Given the description of an element on the screen output the (x, y) to click on. 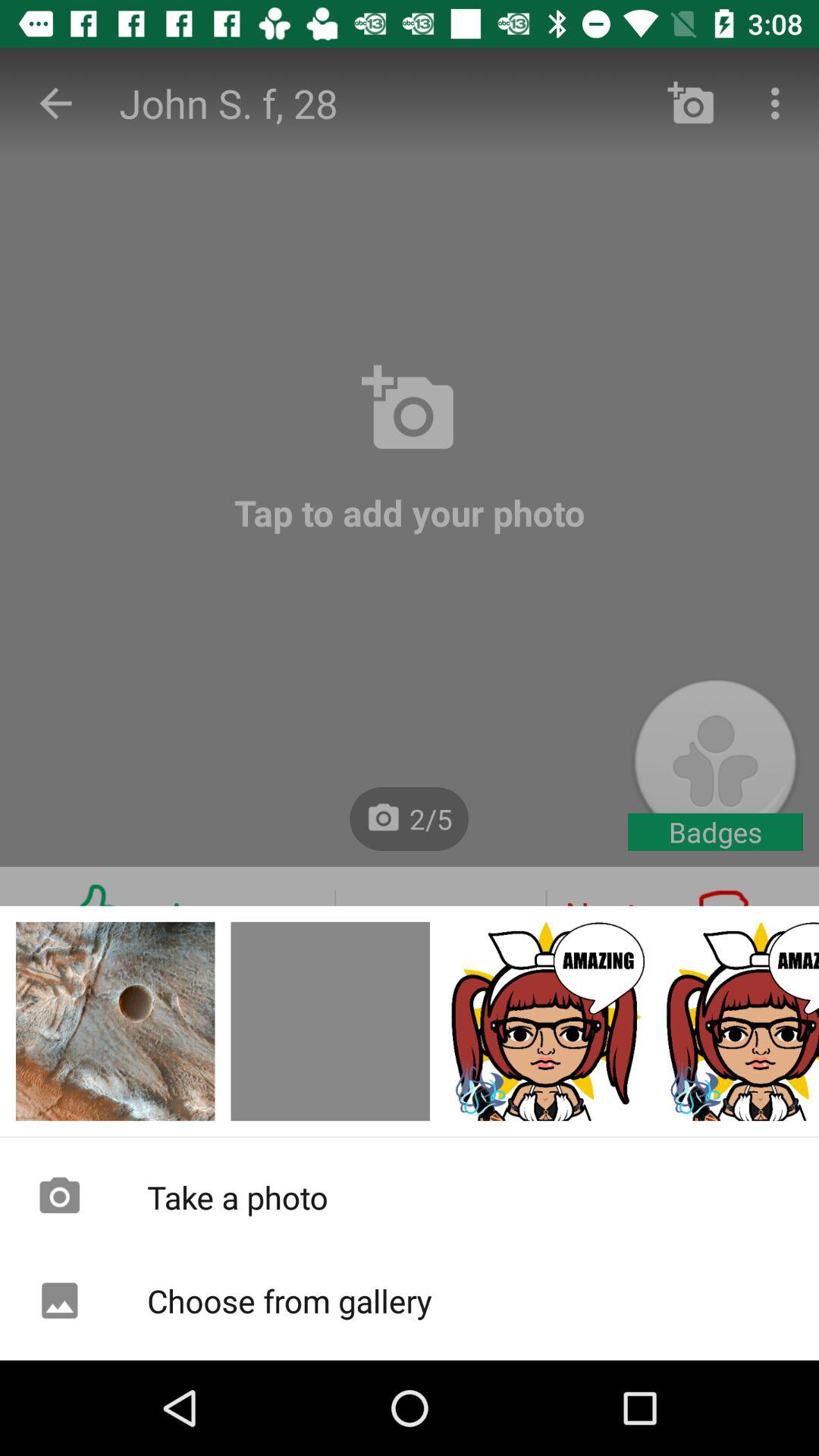
enter the picture (739, 1021)
